Given the description of an element on the screen output the (x, y) to click on. 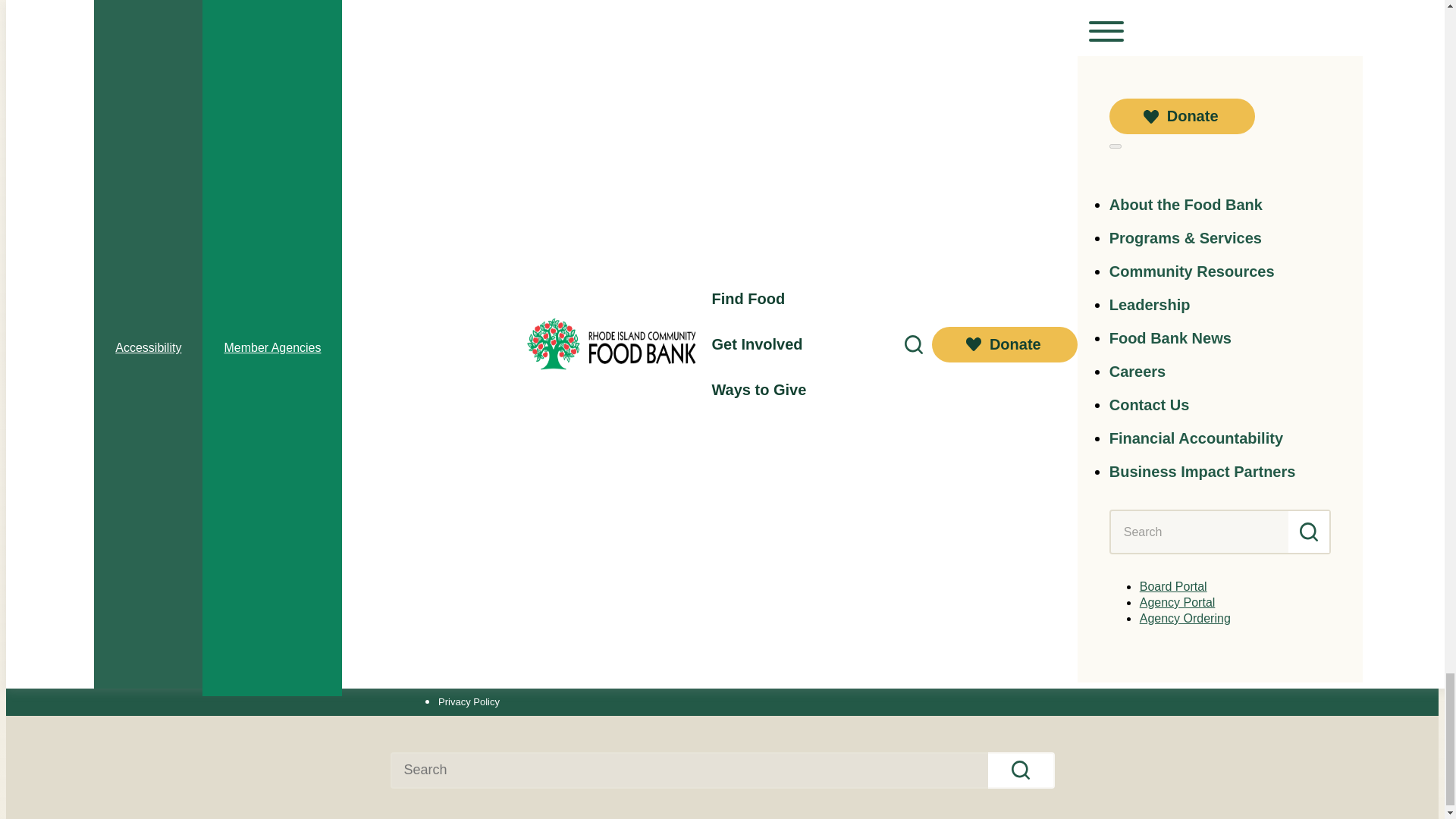
Search (1021, 770)
Search (1021, 770)
